Given the description of an element on the screen output the (x, y) to click on. 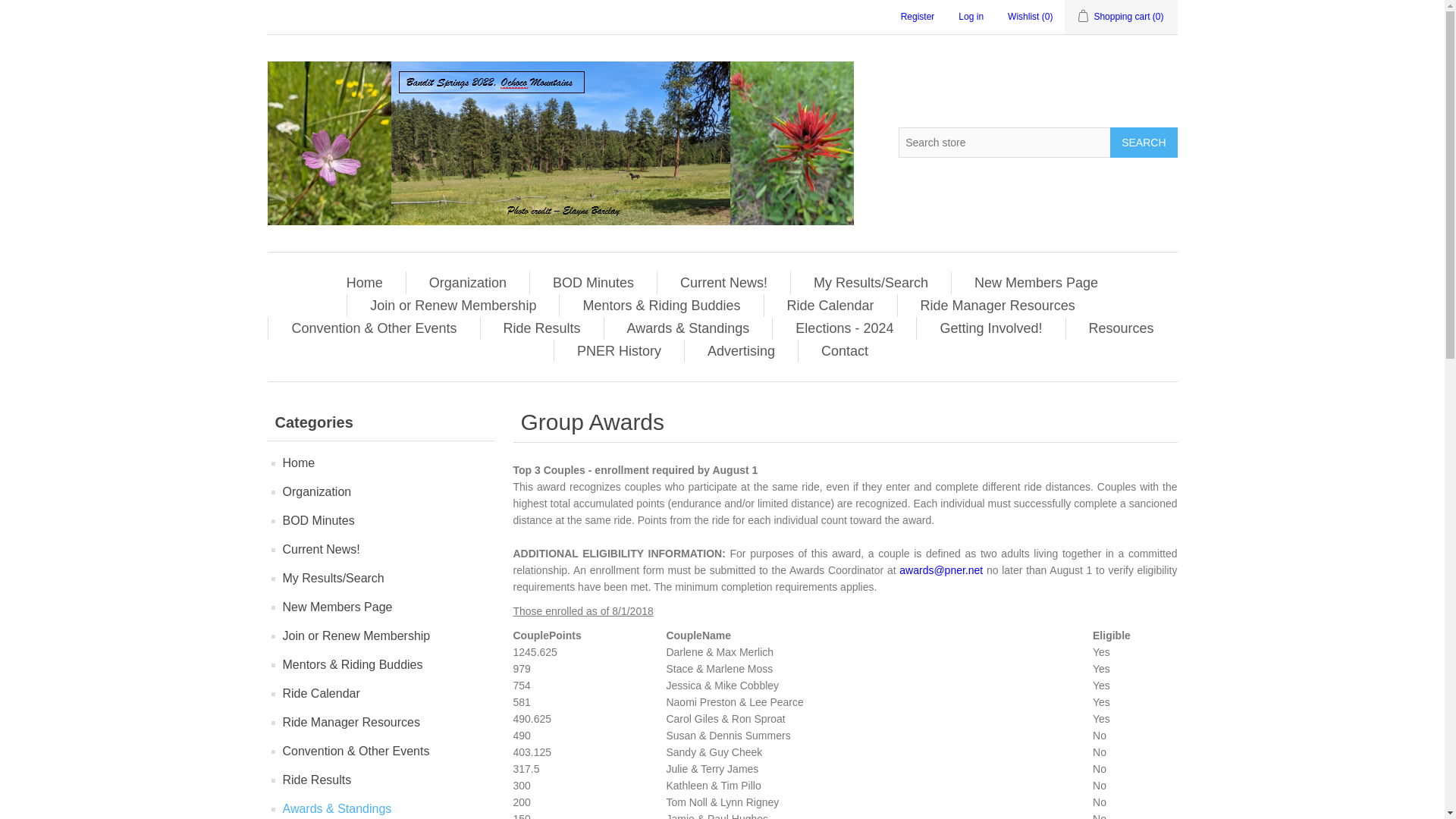
BOD Minutes (593, 282)
Search (1142, 142)
Organization (467, 282)
Join or Renew Membership (452, 305)
Ride Results (542, 327)
Search (1142, 142)
Ride Calendar (830, 305)
Register (917, 17)
Current News! (723, 282)
New Members Page (1035, 282)
